Given the description of an element on the screen output the (x, y) to click on. 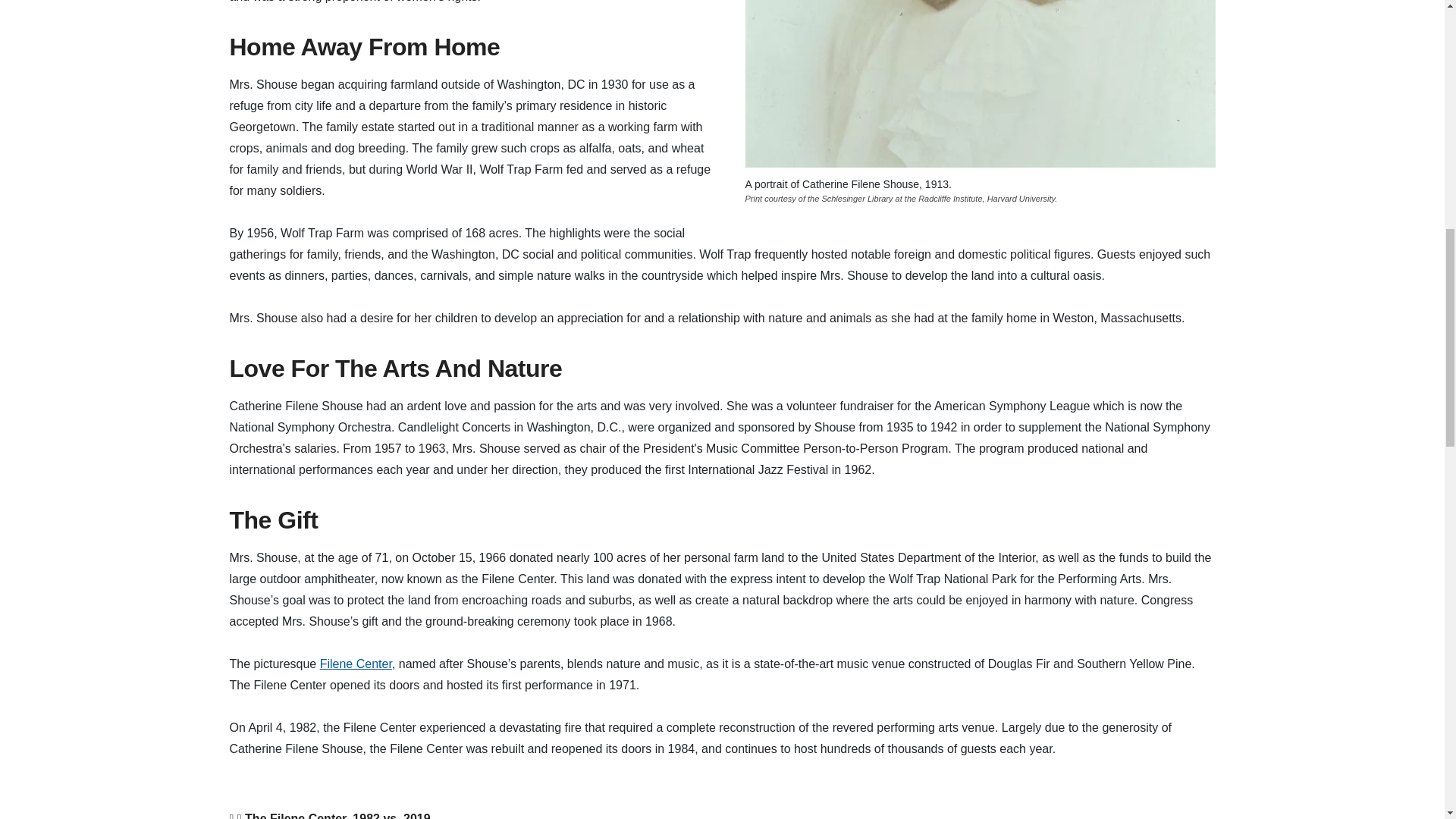
Filene Center (355, 663)
CFS (979, 83)
